Given the description of an element on the screen output the (x, y) to click on. 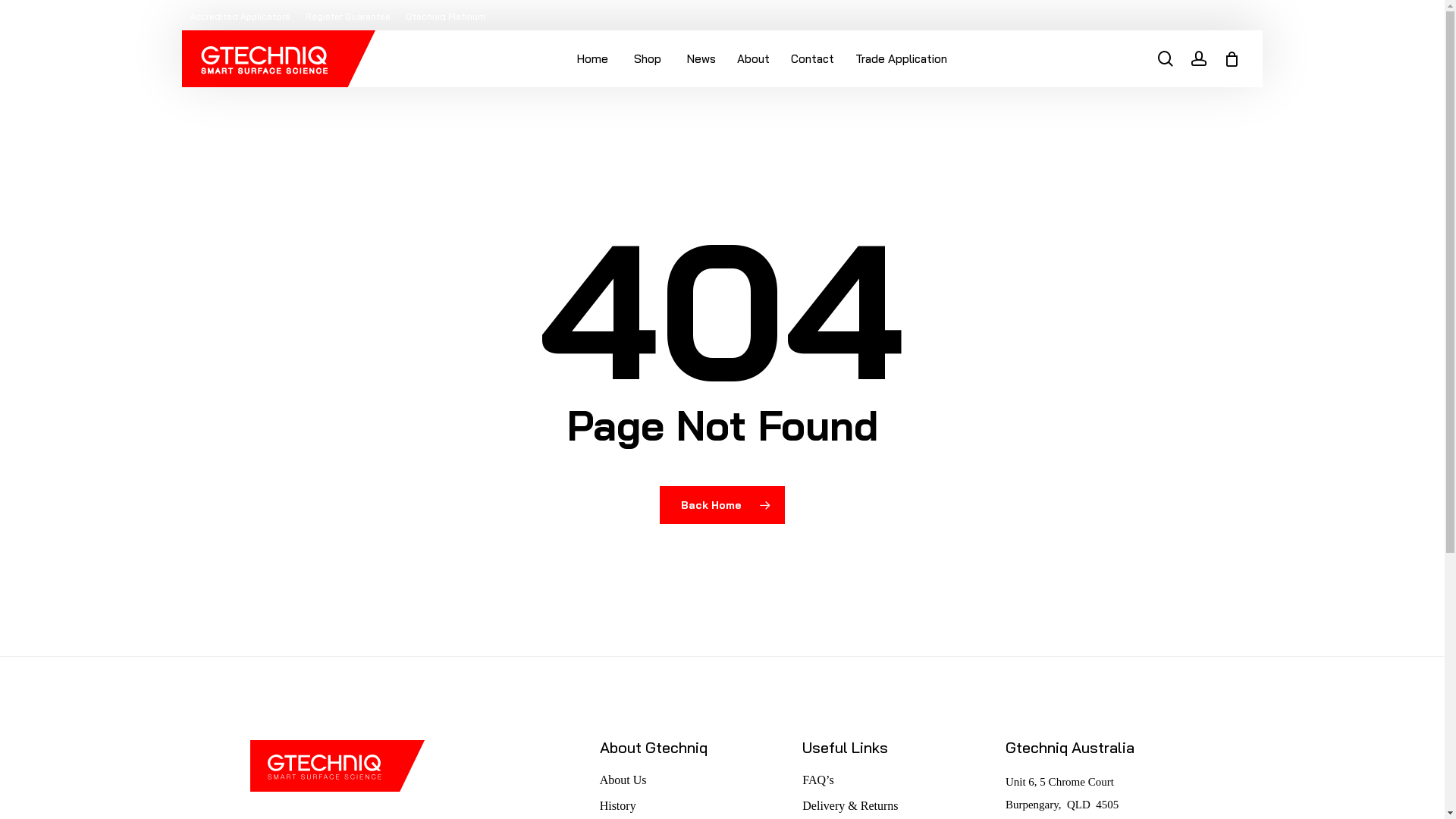
account Element type: text (1198, 58)
Trade Application Element type: text (900, 58)
Contact Element type: text (812, 58)
Accredited Applicators Element type: text (239, 15)
About Us Element type: text (691, 780)
Home Element type: text (592, 58)
Back Home Element type: text (721, 504)
History Element type: text (691, 805)
About Element type: text (753, 58)
Gtechniq Platinum Element type: text (445, 15)
search Element type: text (1165, 58)
Register Guarantee Element type: text (347, 15)
News Element type: text (701, 58)
Delivery & Returns Element type: text (894, 805)
